Given the description of an element on the screen output the (x, y) to click on. 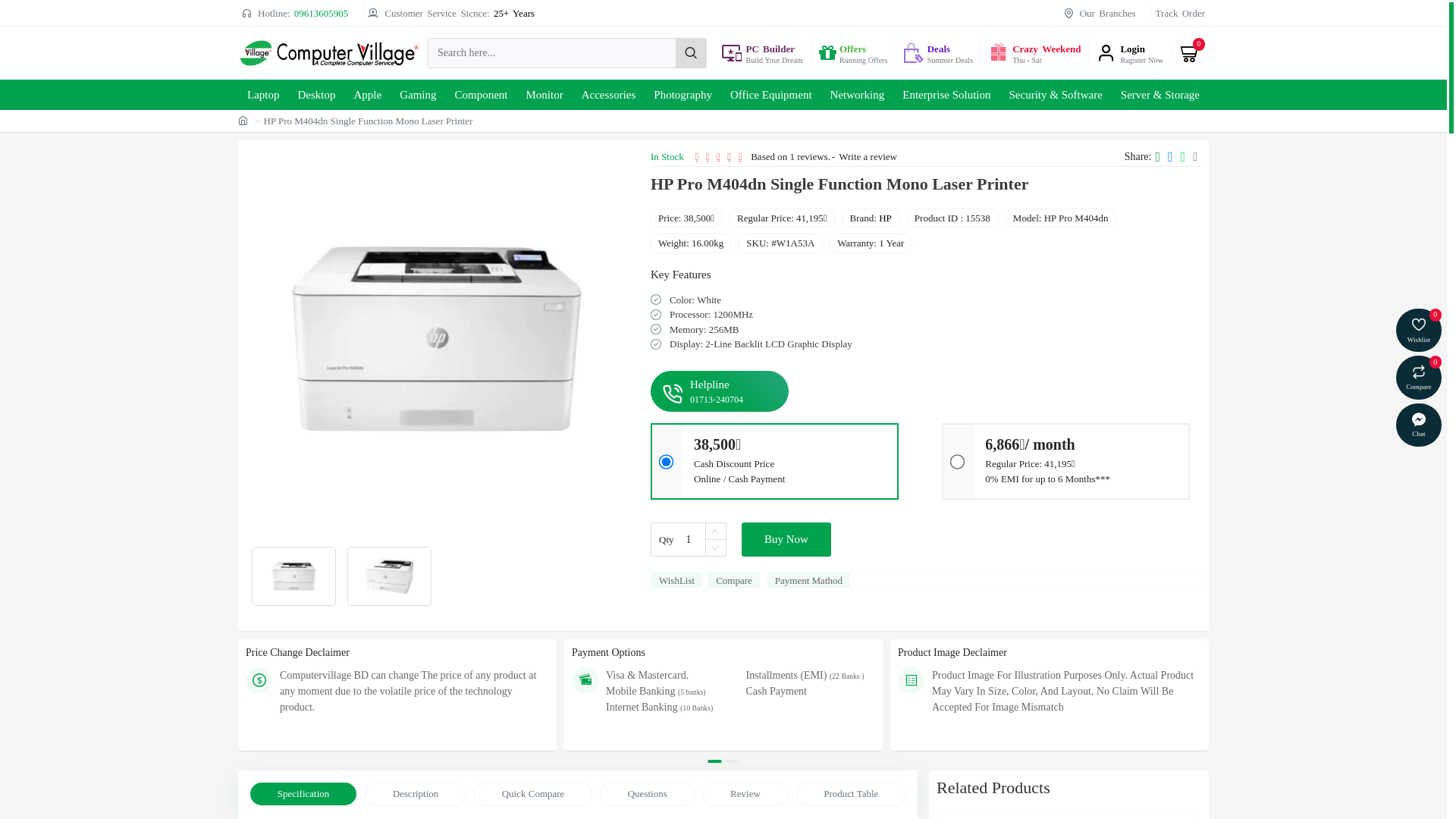
Compare
0 Element type: text (1418, 376)
Monitor Element type: text (544, 94)
Networking Element type: text (857, 94)
Crazy Weekend
Thu - Sat Element type: text (1034, 52)
Laptop Element type: text (263, 94)
WishList Element type: text (676, 579)
Write a review Element type: text (867, 156)
Questions Element type: text (646, 793)
Wishlist
0 Element type: text (1418, 329)
Based on 1 reviews. Element type: text (790, 156)
Accessories Element type: text (608, 94)
Deals
Summer Deals Element type: text (937, 52)
Description Element type: text (415, 793)
Our Branches Element type: text (1099, 13)
Customer Service Sicnce: 25+ Years Element type: text (450, 13)
Chat Element type: text (1418, 424)
Hotline: 09613605905 Element type: text (294, 13)
Gaming Element type: text (417, 94)
Server & Storage Element type: text (1159, 94)
Specification Element type: text (303, 793)
Desktop Element type: text (316, 94)
Buy Now Element type: text (786, 539)
HP Element type: text (884, 217)
Photography Element type: text (682, 94)
HP Pro M404dn Single Function Mono Laser Printer Element type: hover (436, 338)
HP Pro M404dn Single Function Mono Laser Printer Element type: text (368, 120)
Review Element type: text (744, 793)
Product Table Element type: text (851, 793)
Enterprise Solution Element type: text (946, 94)
Track Order Element type: text (1179, 13)
Office Equipment Element type: text (771, 94)
Security & Software Element type: text (1054, 94)
Component Element type: text (481, 94)
Quick Compare Element type: text (532, 793)
Helpline
01713-240704 Element type: text (718, 391)
0 Element type: text (1189, 53)
HP Pro M404dn Single Function Mono Laser Printer Element type: hover (389, 575)
Payment Mathod Element type: text (808, 579)
Login
Ragister Now Element type: text (1129, 52)
Compare Element type: text (733, 579)
Apple Element type: text (367, 94)
Offers
Running Offers Element type: text (852, 52)
PC Builder
Build Your Dream Element type: text (761, 52)
HP Pro M404dn Single Function Mono Laser Printer Element type: hover (293, 575)
Computer Village Element type: hover (329, 53)
